Given the description of an element on the screen output the (x, y) to click on. 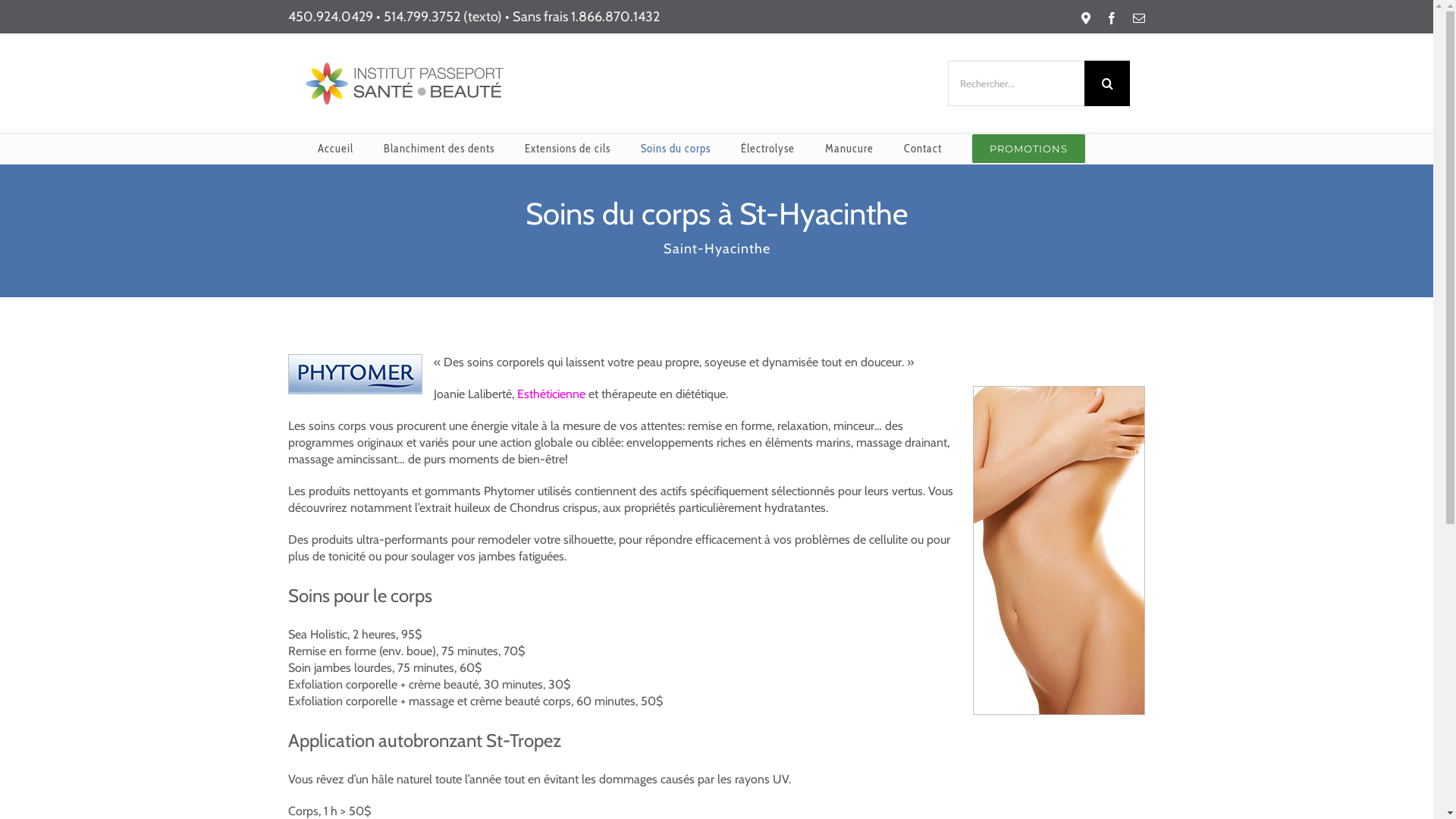
Extensions de cils Element type: text (567, 148)
Manucure Element type: text (849, 148)
Fiche Google Element type: text (1085, 18)
exfoliation corporelle Element type: hover (1058, 550)
Email Element type: text (1138, 18)
Soins du corps Element type: text (675, 148)
Facebook Element type: text (1111, 18)
Accueil Element type: text (335, 148)
PROMOTIONS Element type: text (1028, 148)
Phytomer Element type: hover (355, 374)
Contact Element type: text (922, 148)
Blanchiment des dents Element type: text (438, 148)
